Given the description of an element on the screen output the (x, y) to click on. 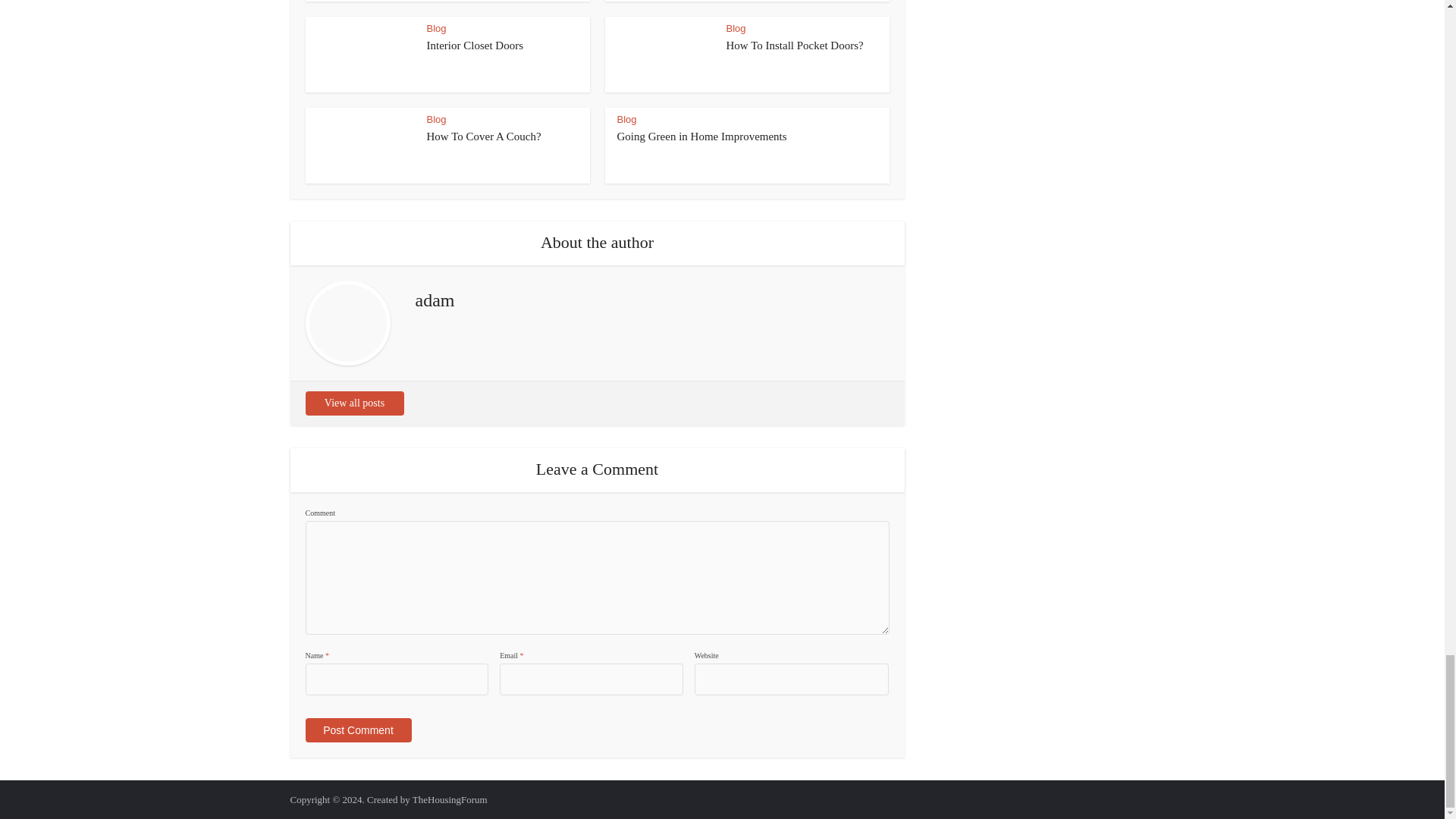
How To Install Pocket Doors? (794, 45)
Post Comment (357, 730)
Interior Closet Doors (474, 45)
